Given the description of an element on the screen output the (x, y) to click on. 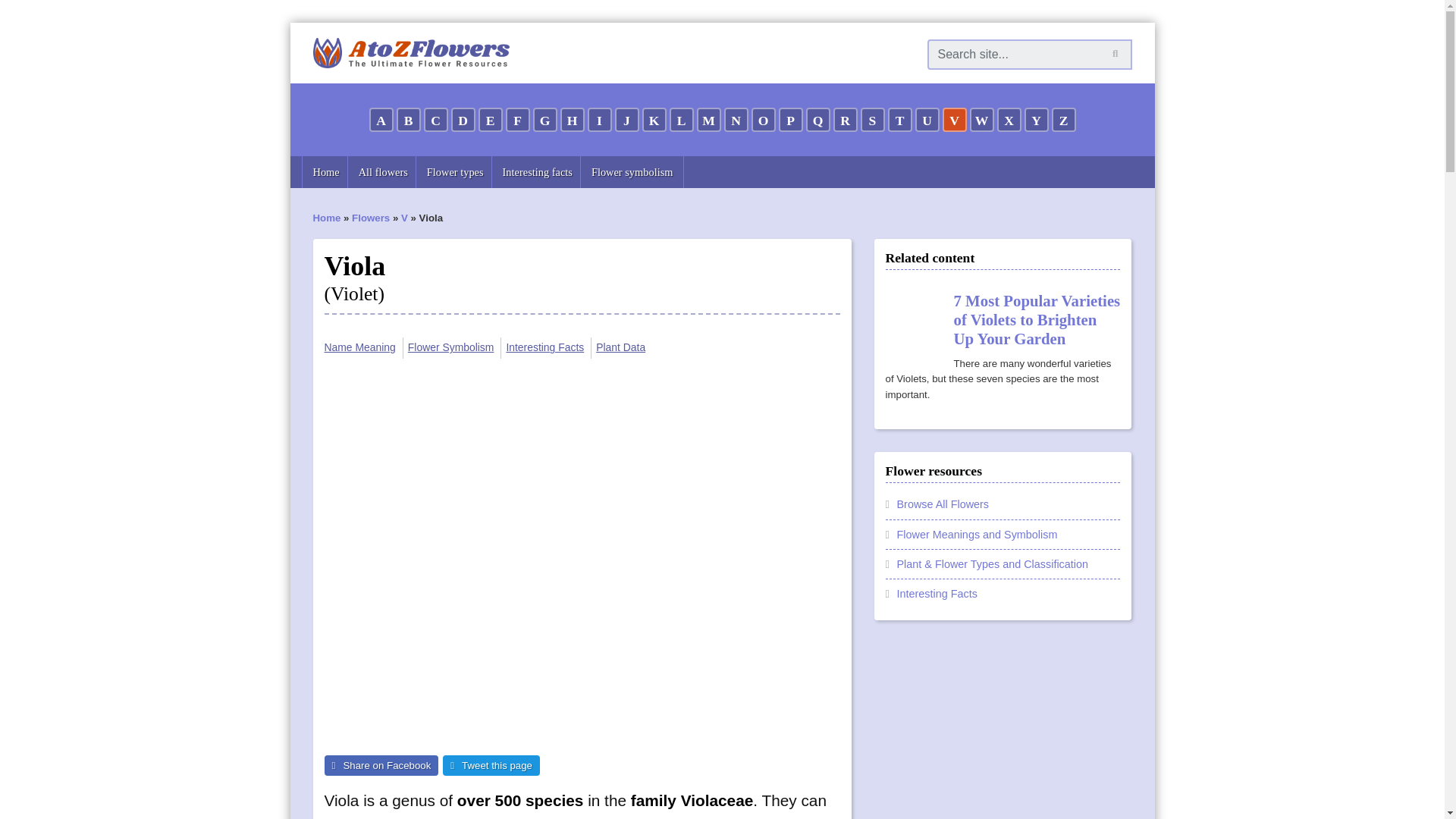
M (707, 119)
All flowers (383, 172)
B (408, 119)
Y (1035, 119)
I (598, 119)
J (626, 119)
C (434, 119)
Flowers (371, 217)
T (898, 119)
Home (326, 217)
G (544, 119)
Name Meaning (360, 346)
Z (1063, 119)
V (954, 119)
O (762, 119)
